Given the description of an element on the screen output the (x, y) to click on. 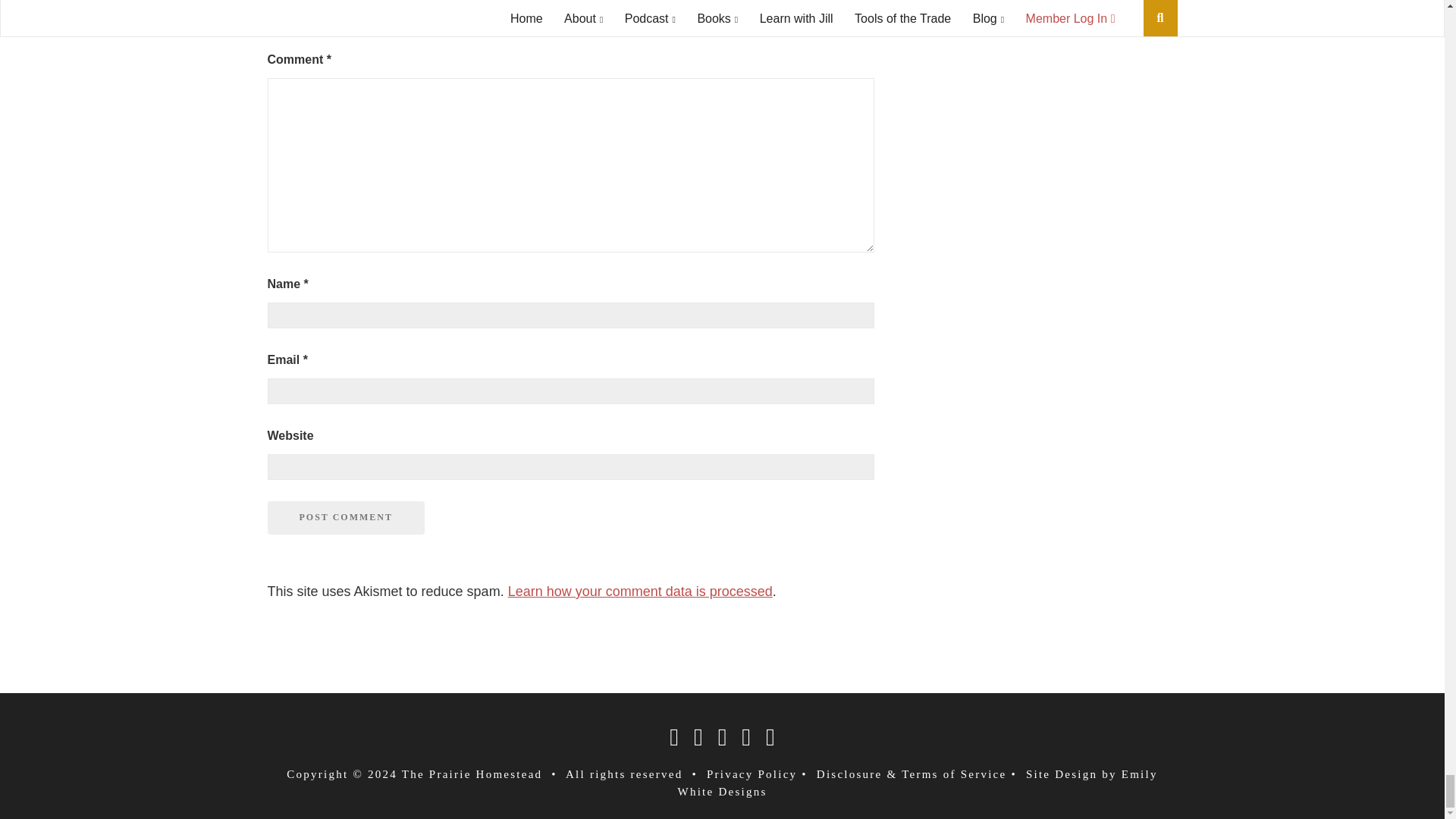
Emily White Designs (917, 782)
privay policy (751, 774)
Post Comment (344, 517)
